Given the description of an element on the screen output the (x, y) to click on. 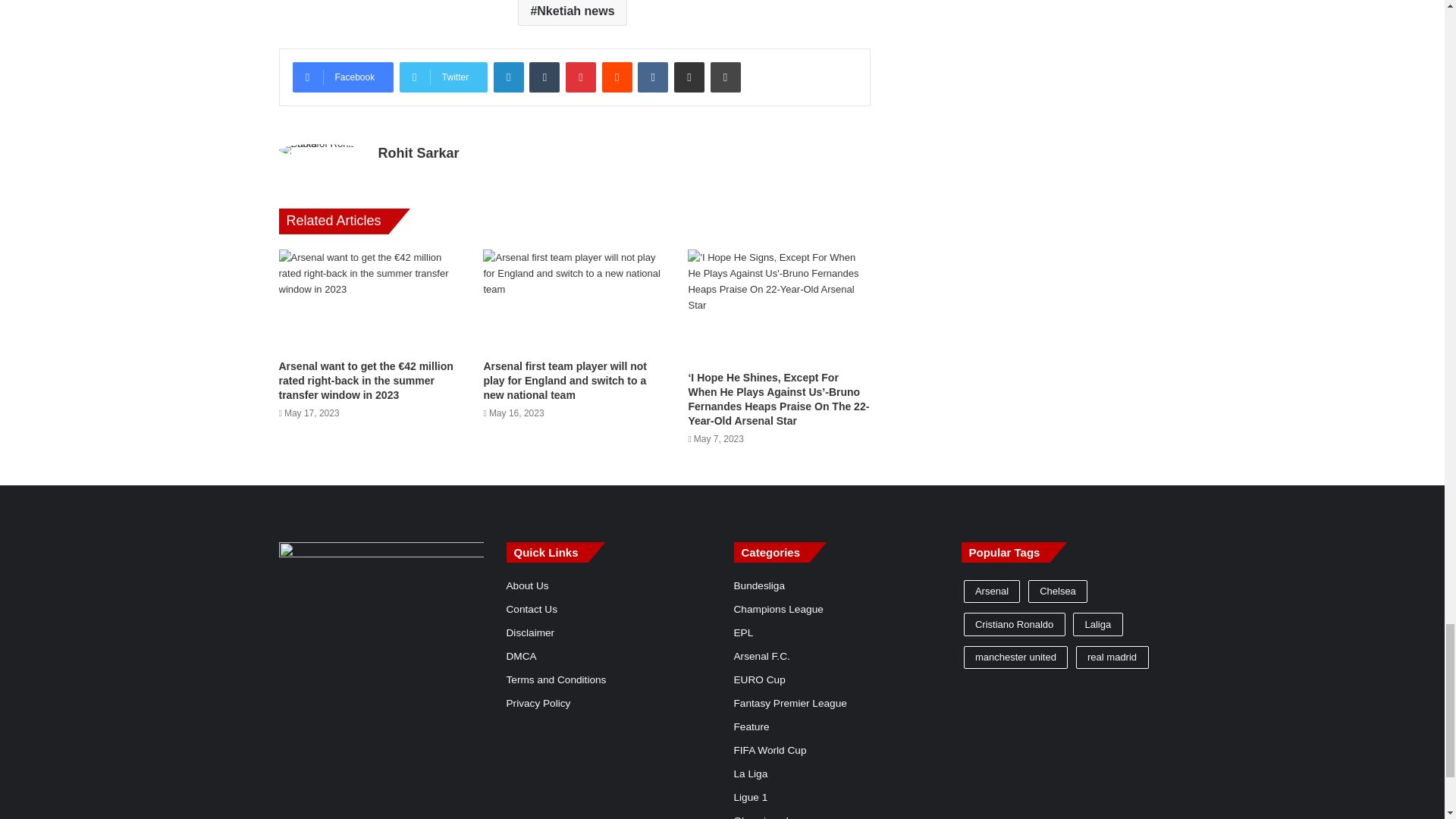
VKontakte (652, 77)
Share via Email (689, 77)
Facebook (343, 77)
LinkedIn (508, 77)
Reddit (616, 77)
Pinterest (580, 77)
Twitter (442, 77)
Tumblr (544, 77)
Print (725, 77)
